Given the description of an element on the screen output the (x, y) to click on. 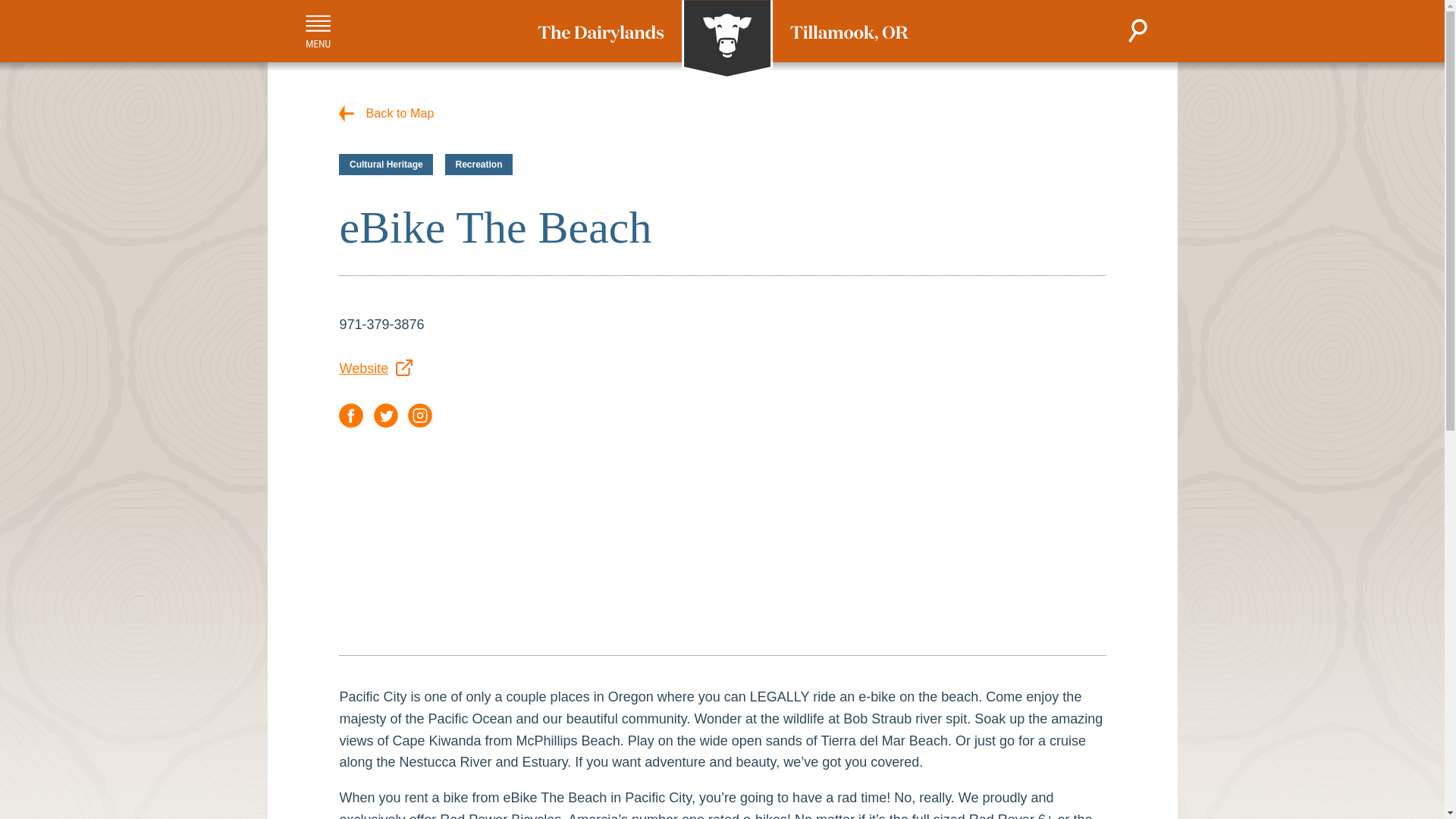
Tillamook Chamber of Commerce (722, 39)
Facebook (350, 415)
Website (375, 368)
Back to Map (386, 112)
Twitter (384, 415)
Instagram (419, 415)
